Given the description of an element on the screen output the (x, y) to click on. 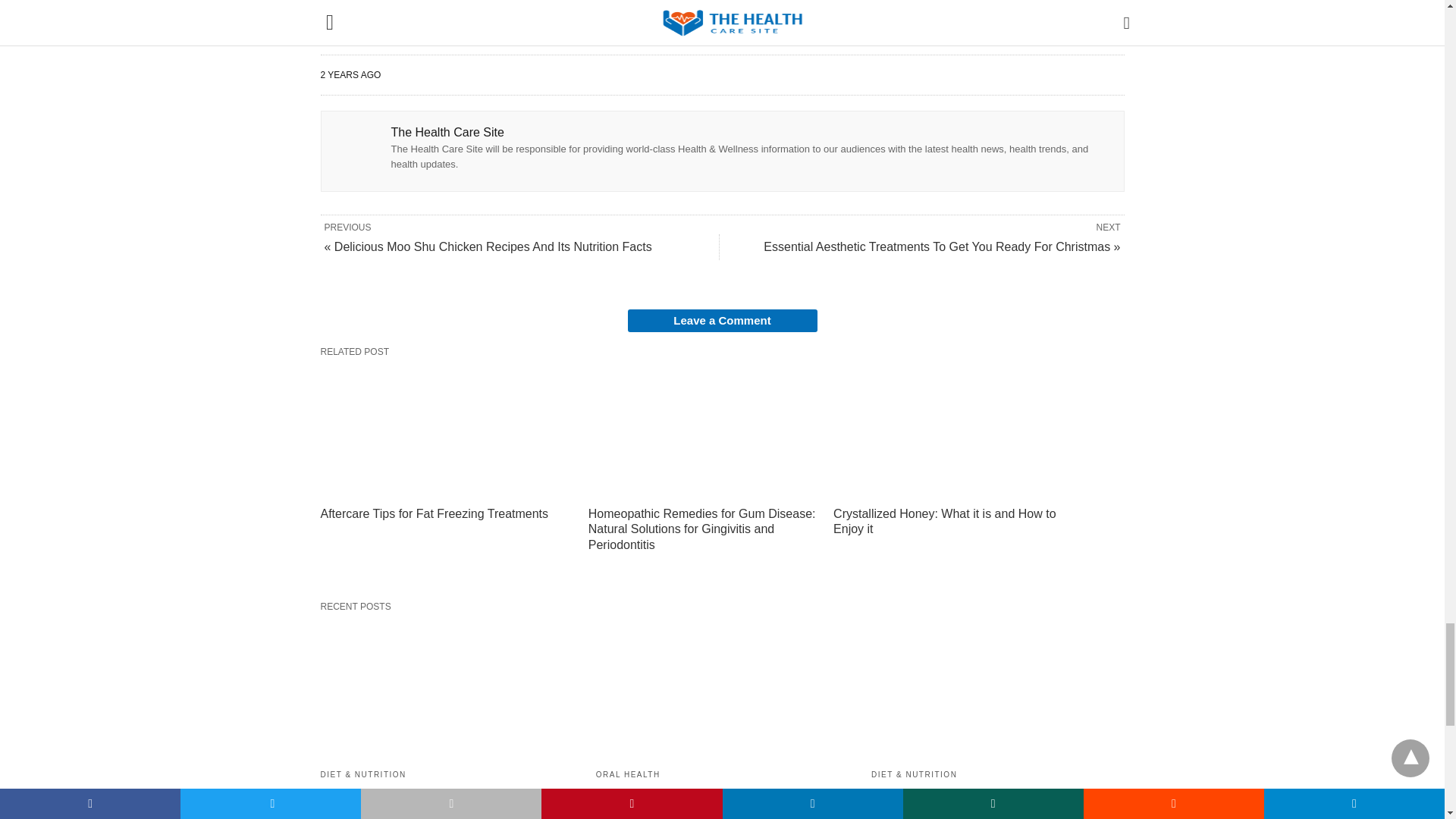
Leave a Comment (721, 320)
Leave a Comment (721, 320)
Aftercare Tips for Fat Freezing Treatments (434, 513)
Aftercare Tips for Fat Freezing Treatments (442, 431)
Aftercare Tips for Fat Freezing Treatments (434, 513)
Crystallized Honey: What it is and How to Enjoy it (943, 521)
